Given the description of an element on the screen output the (x, y) to click on. 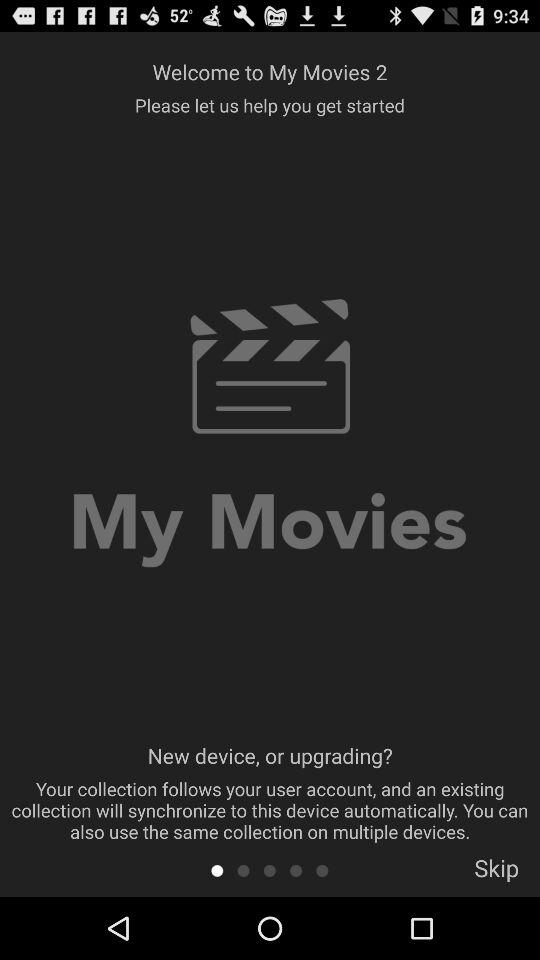
scroll to last (321, 870)
